Given the description of an element on the screen output the (x, y) to click on. 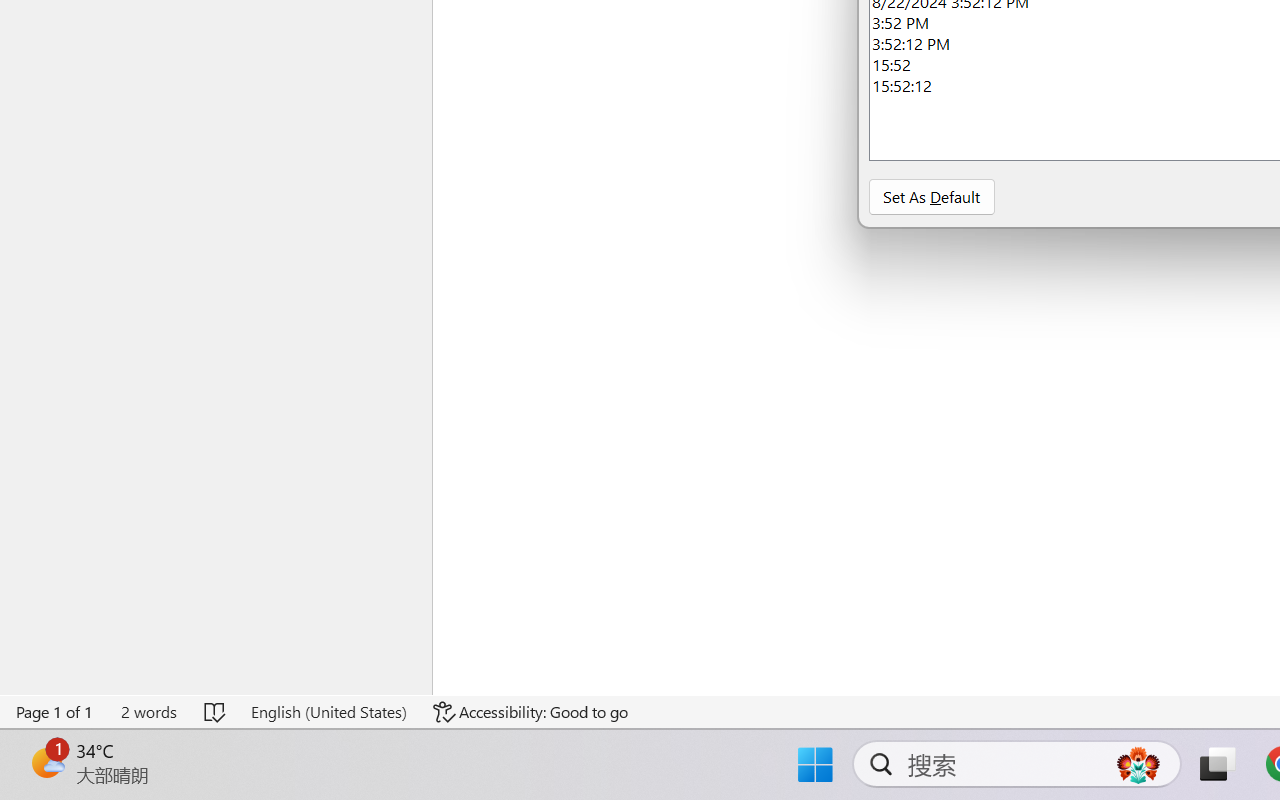
Page Number Page 1 of 1 (55, 712)
Accessibility Checker Accessibility: Good to go (531, 712)
Language English (United States) (328, 712)
AutomationID: BadgeAnchorLargeTicker (46, 762)
Set As Default (931, 196)
Spelling and Grammar Check No Errors (216, 712)
AutomationID: DynamicSearchBoxGleamImage (1138, 764)
